Given the description of an element on the screen output the (x, y) to click on. 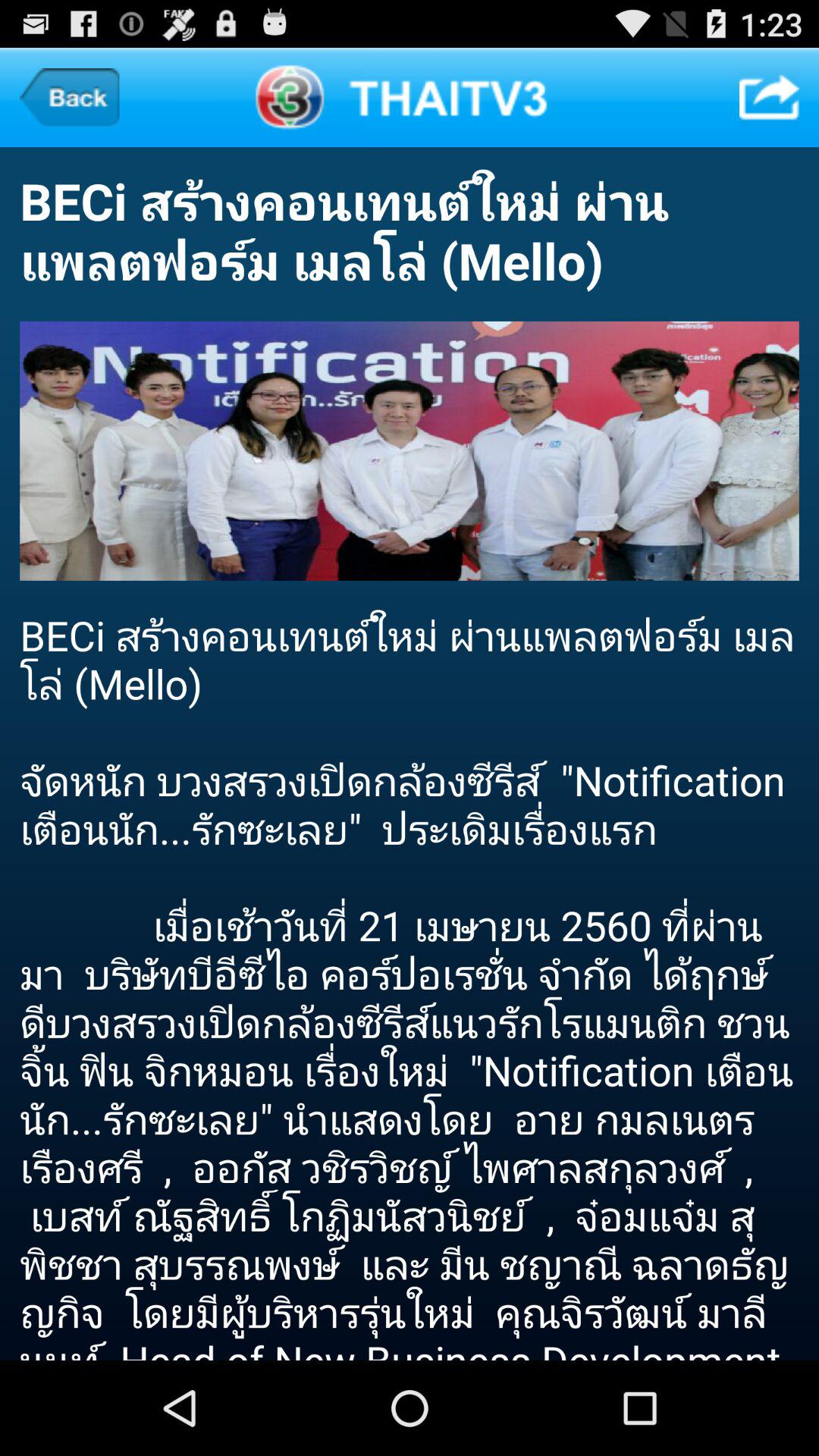
turn off item at the top right corner (769, 97)
